Given the description of an element on the screen output the (x, y) to click on. 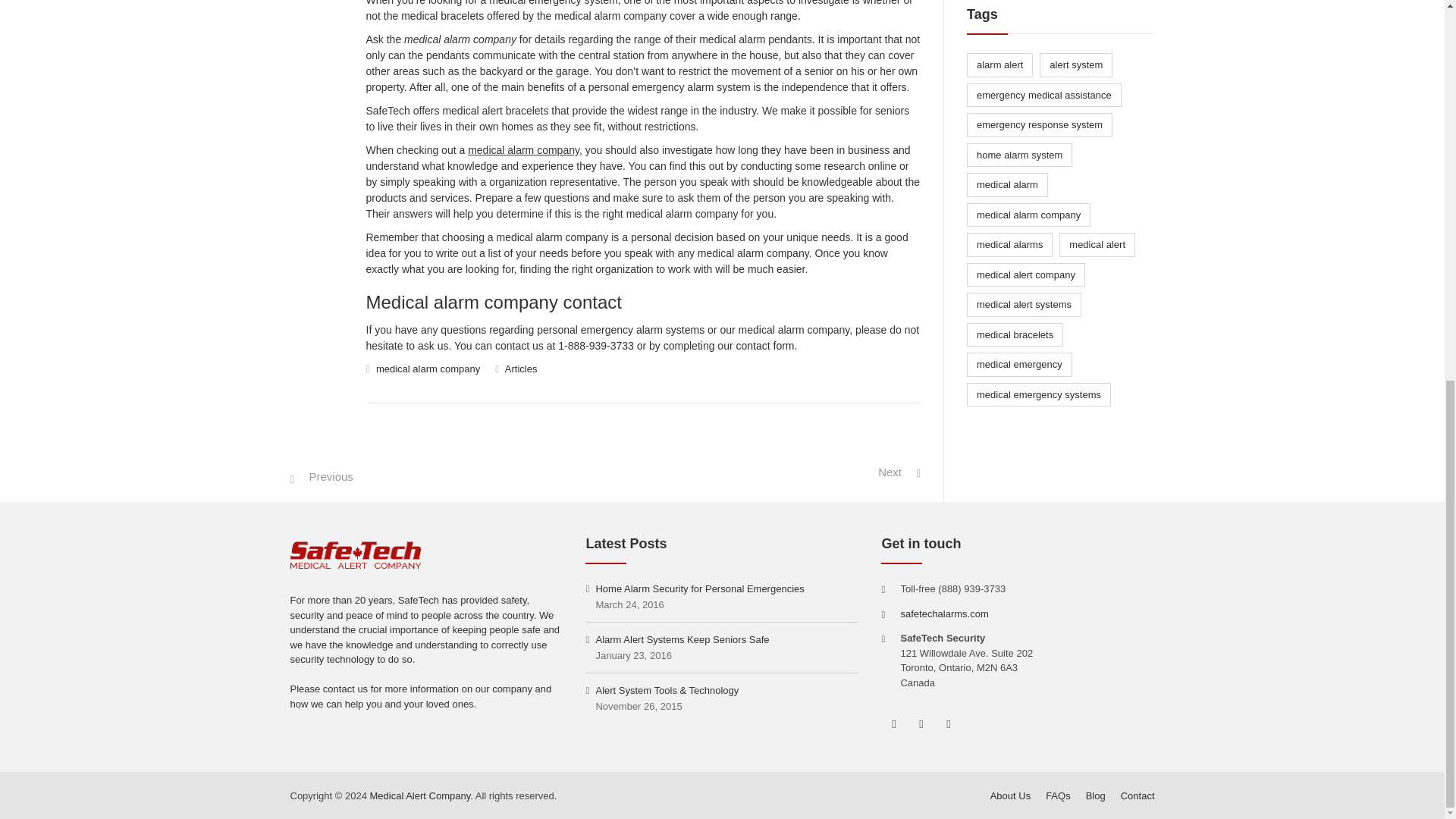
medical alert company (1025, 274)
contact form (764, 345)
alert system (1075, 64)
Articles (521, 368)
medical emergency (534, 2)
medical bracelets (442, 15)
home alarm system (1018, 155)
Previous (320, 476)
alarm systems (670, 329)
Alarm Alert Systems Keep Seniors Safe (676, 639)
